Given the description of an element on the screen output the (x, y) to click on. 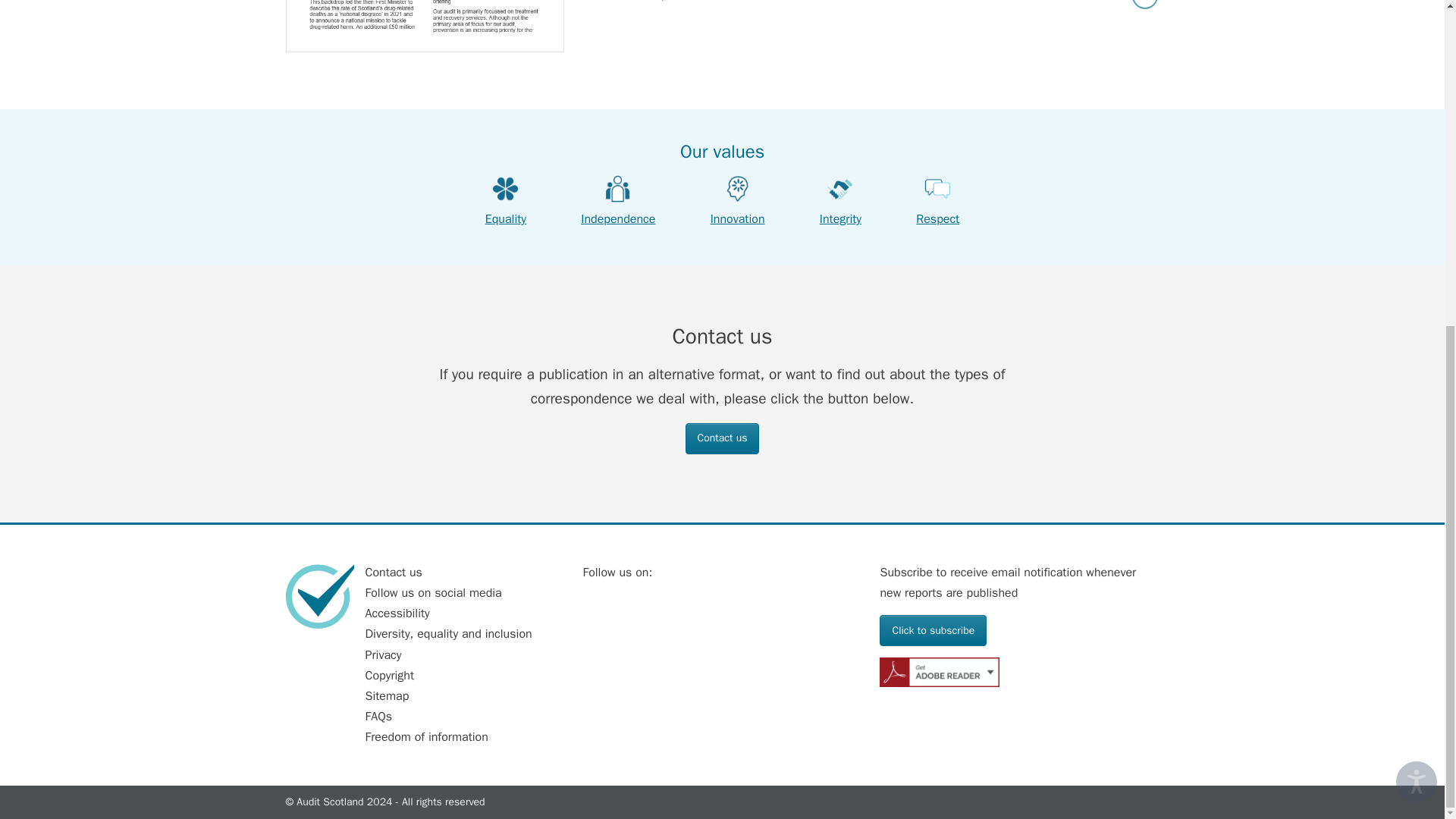
Audit scope (642, 1)
Listen with the ReachDeck Toolbar (1416, 246)
Publication cover: Drug and Alcohol services - audit scope (424, 26)
